Given the description of an element on the screen output the (x, y) to click on. 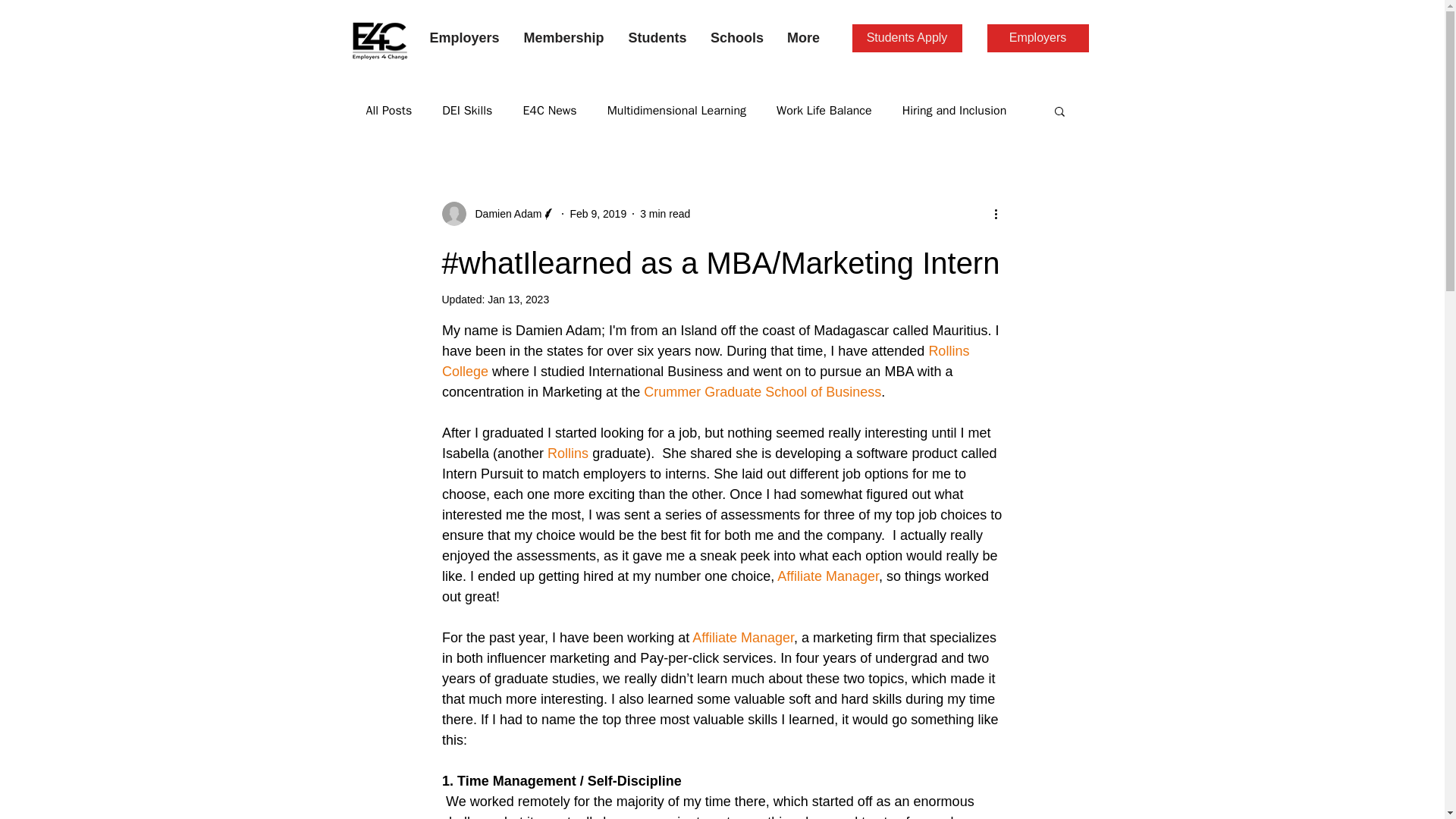
DEI Skills (467, 110)
Membership (563, 37)
Schools (737, 37)
Hiring and Inclusion (954, 110)
Crummer Graduate School of Business (761, 391)
Rollins College (706, 361)
Employers (463, 37)
Work Life Balance (824, 110)
Rollins (567, 453)
E4C News (549, 110)
